Given the description of an element on the screen output the (x, y) to click on. 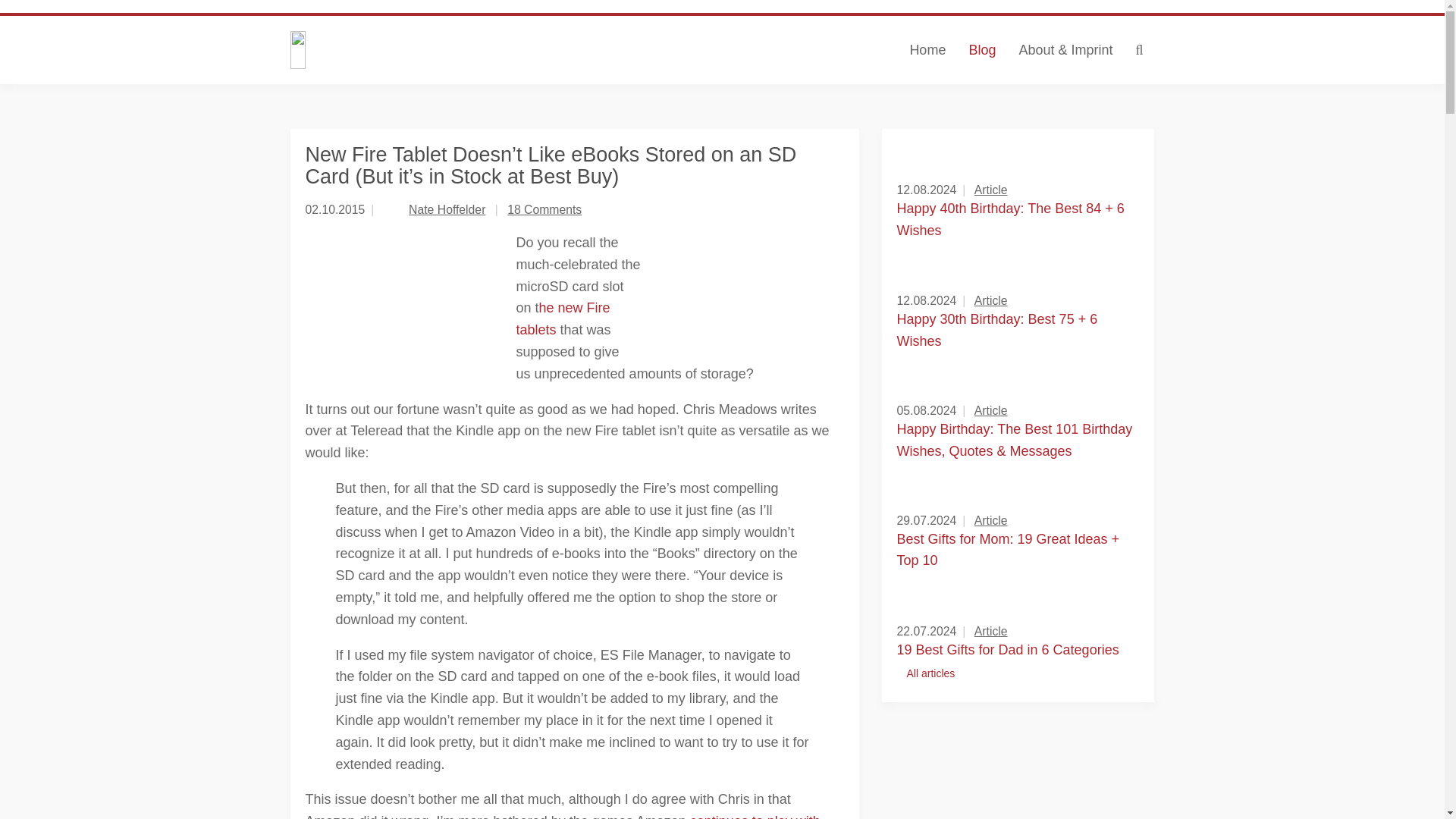
Home (927, 49)
Nate Hoffelder (446, 209)
Blog (981, 49)
The Digital Reader (437, 49)
he new Fire tablets (562, 318)
18 Comments (543, 209)
